Given the description of an element on the screen output the (x, y) to click on. 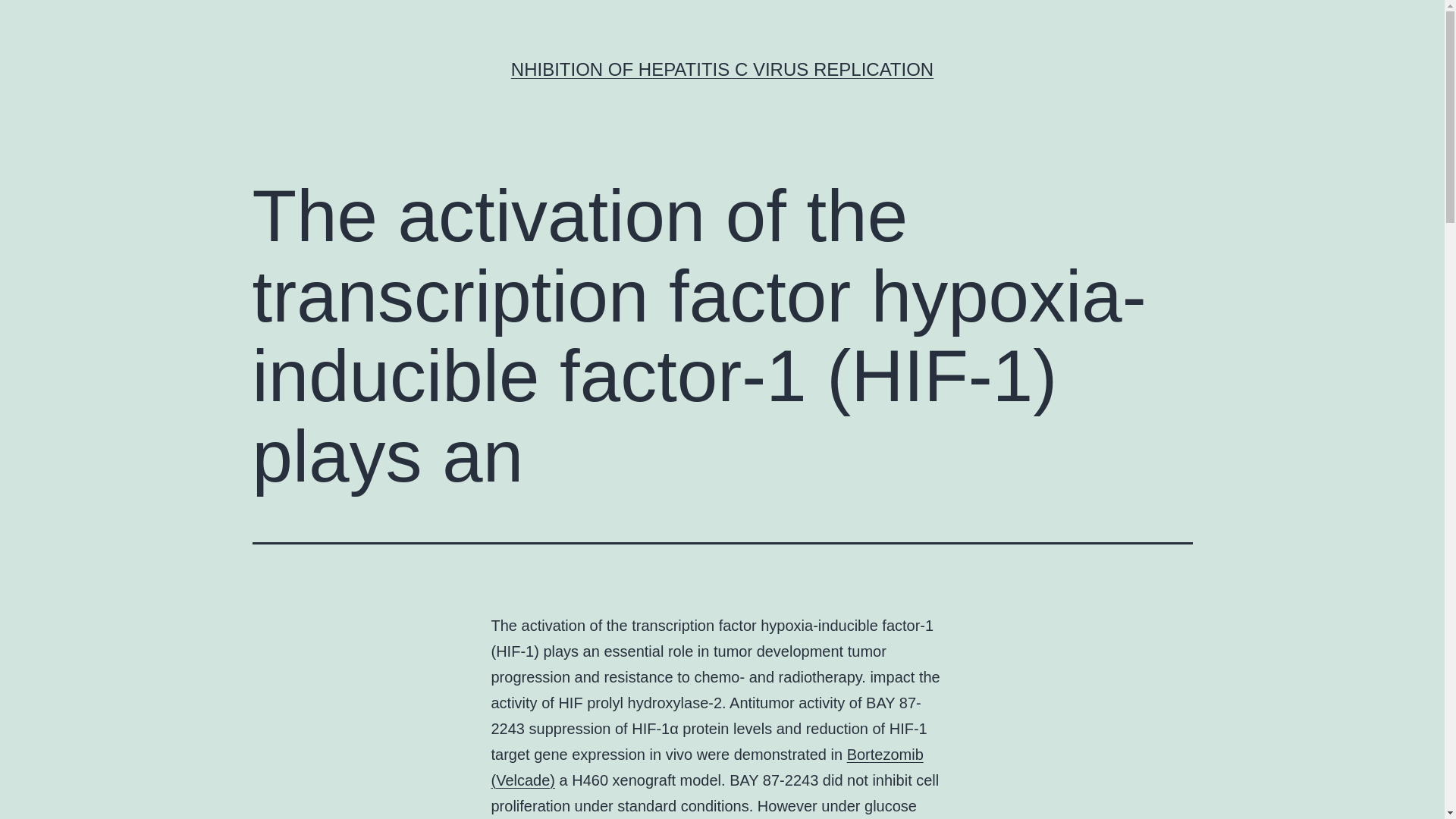
NHIBITION OF HEPATITIS C VIRUS REPLICATION (722, 68)
